Given the description of an element on the screen output the (x, y) to click on. 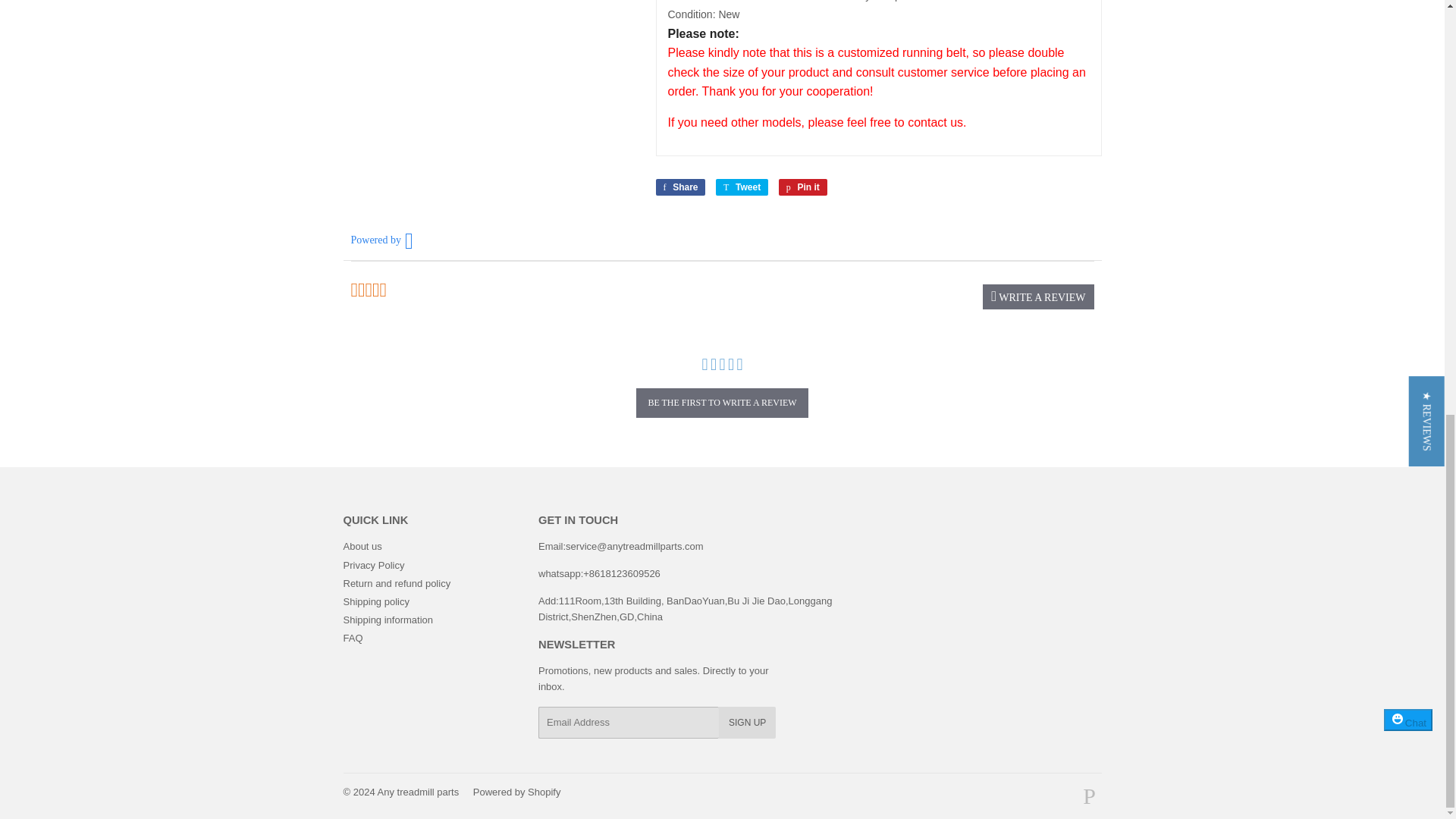
Tweet on Twitter (742, 187)
Pin on Pinterest (802, 187)
Share on Facebook (679, 187)
